Given the description of an element on the screen output the (x, y) to click on. 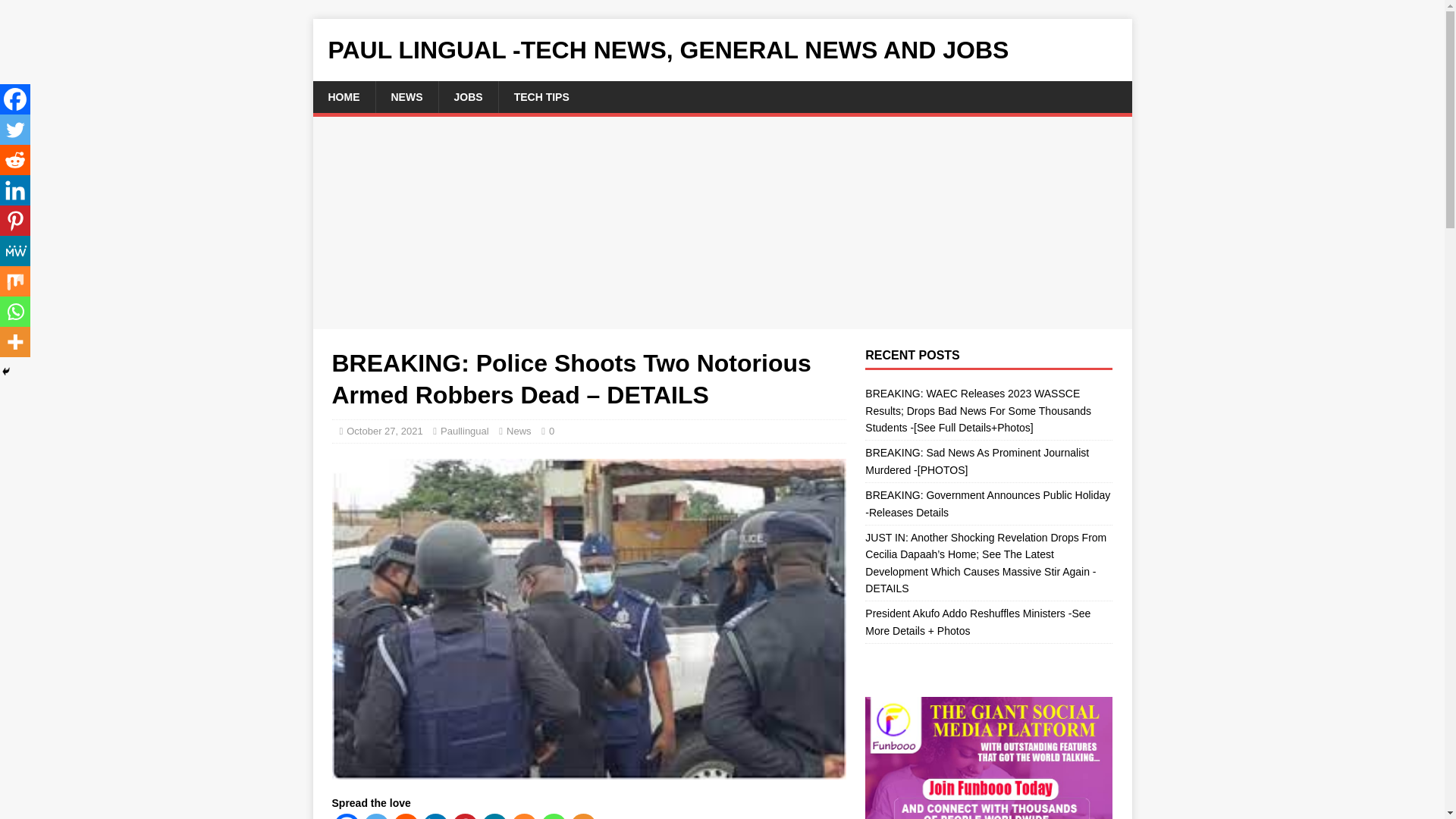
MeWe (493, 816)
Mix (524, 816)
Linkedin (435, 816)
October 27, 2021 (384, 430)
Twitter (15, 129)
Whatsapp (553, 816)
TECH TIPS (541, 97)
HOME (343, 97)
Paullingual (465, 430)
JOBS (467, 97)
Pinterest (465, 816)
Facebook (346, 816)
More (583, 816)
0 (551, 430)
